Given the description of an element on the screen output the (x, y) to click on. 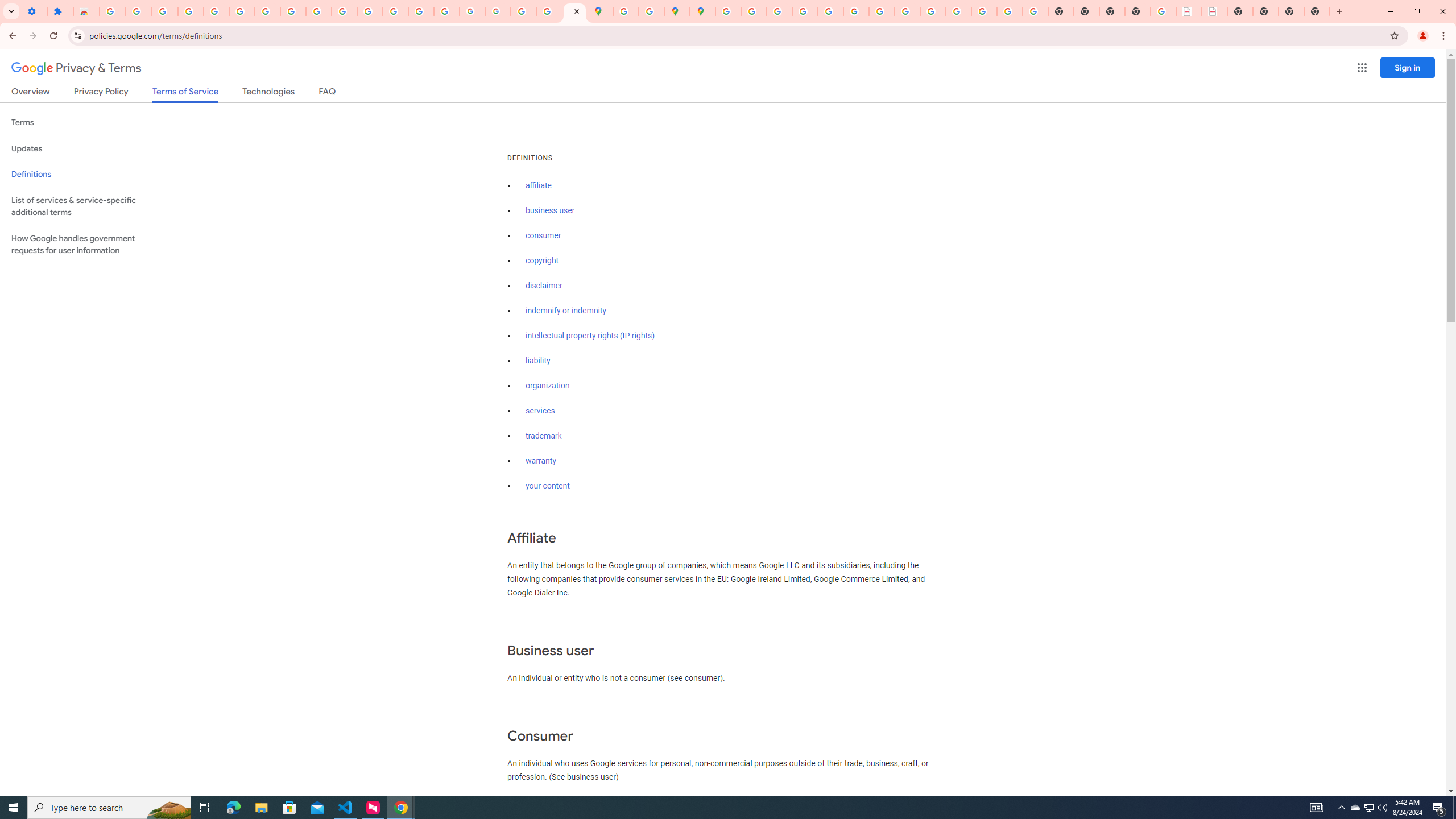
Restore (1416, 11)
Sign in - Google Accounts (727, 11)
Sign in - Google Accounts (242, 11)
You (1422, 35)
your content (547, 486)
Bookmark this tab (1393, 35)
Reload (52, 35)
organization (547, 385)
